Given the description of an element on the screen output the (x, y) to click on. 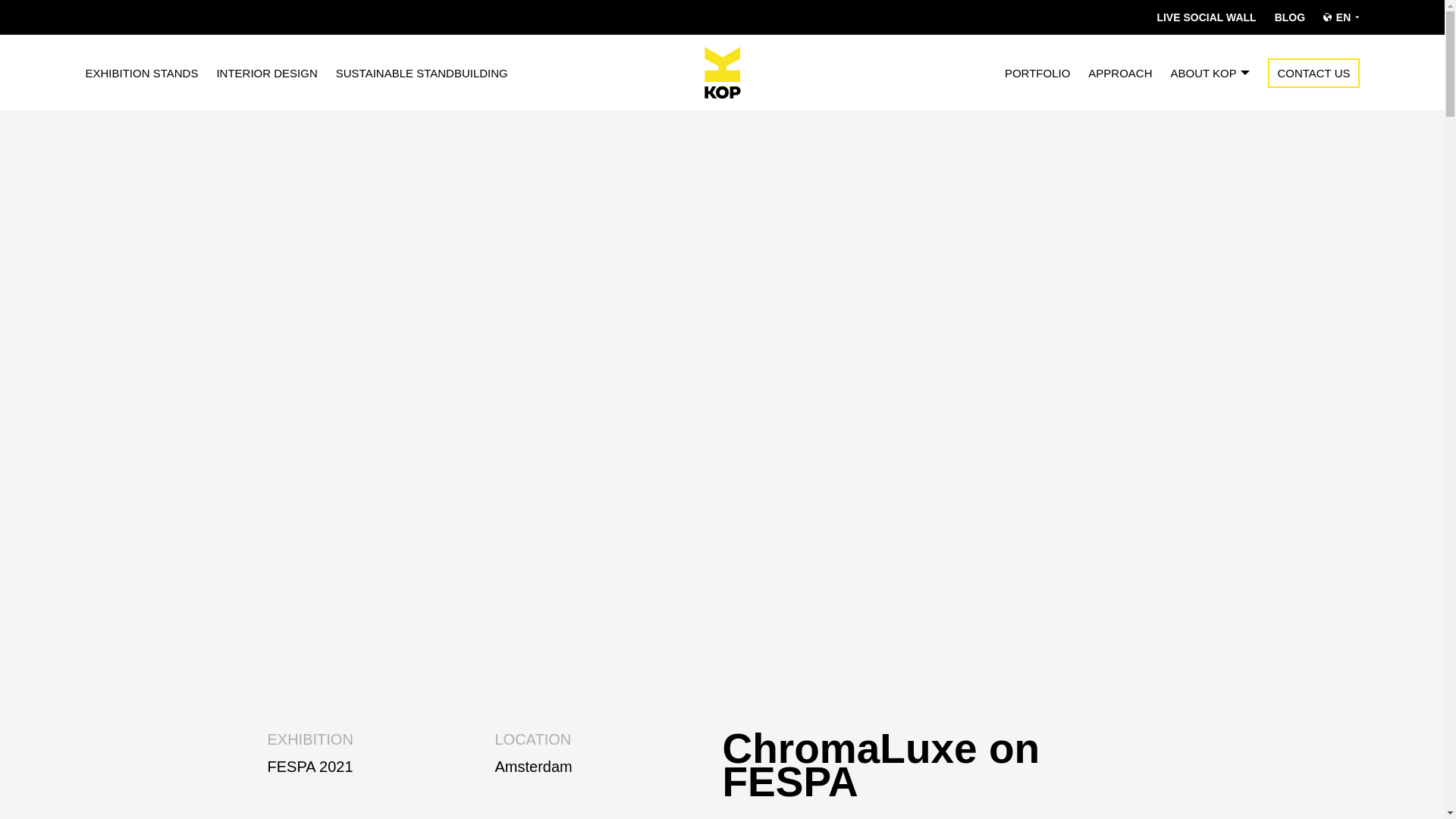
CONTACT US (1313, 71)
PORTFOLIO (1037, 71)
BLOG (1289, 17)
EXHIBITION STANDS (380, 775)
LIVE SOCIAL WALL (608, 775)
SUSTAINABLE STANDBUILDING (141, 71)
APPROACH (1205, 17)
INTERIOR DESIGN (422, 71)
